Given the description of an element on the screen output the (x, y) to click on. 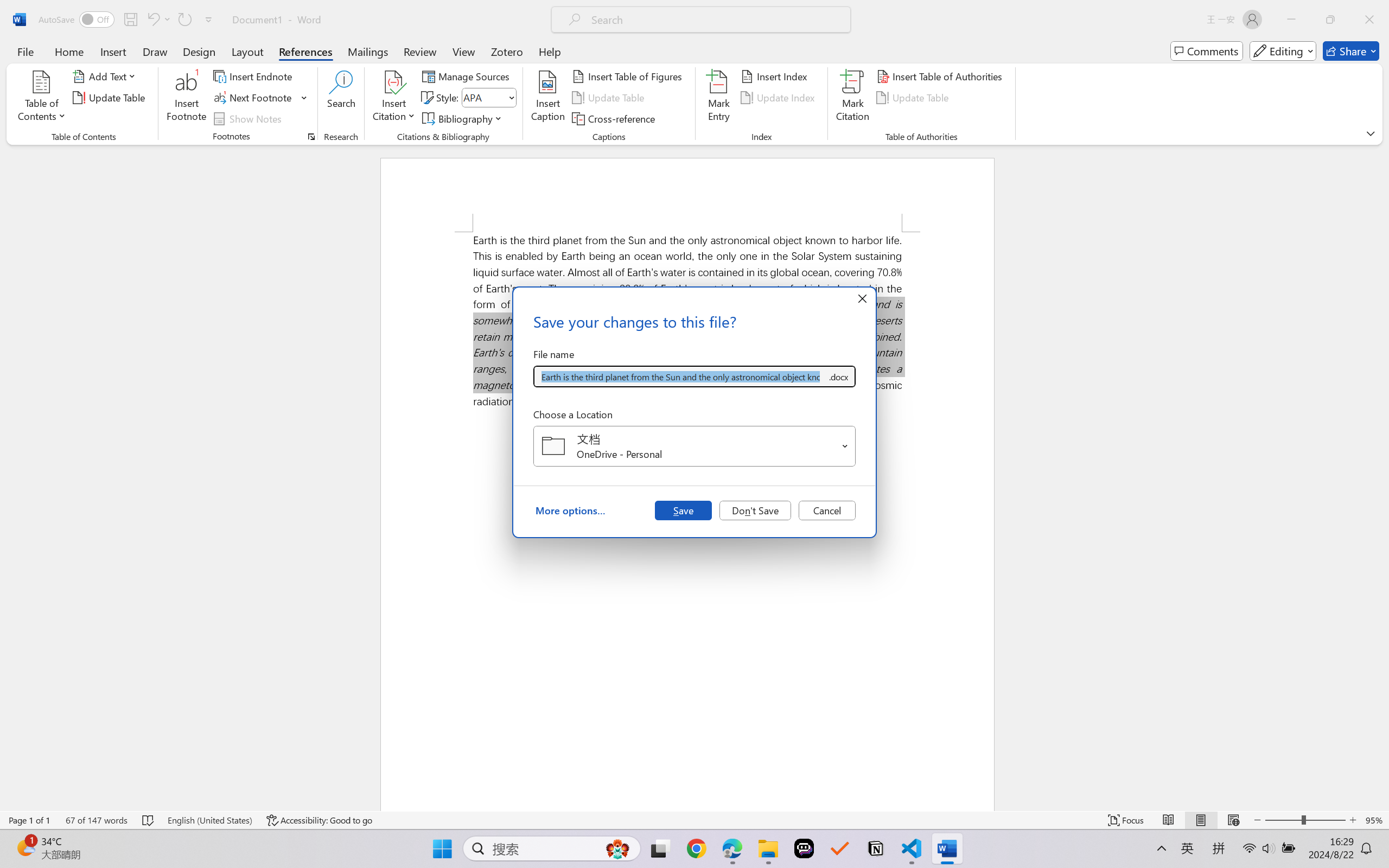
Search (341, 97)
Insert Citation (393, 97)
Microsoft search (715, 19)
Mark Entry... (718, 97)
Google Chrome (696, 848)
Update Table... (110, 97)
Next Footnote (253, 97)
Mark Citation... (852, 97)
